Given the description of an element on the screen output the (x, y) to click on. 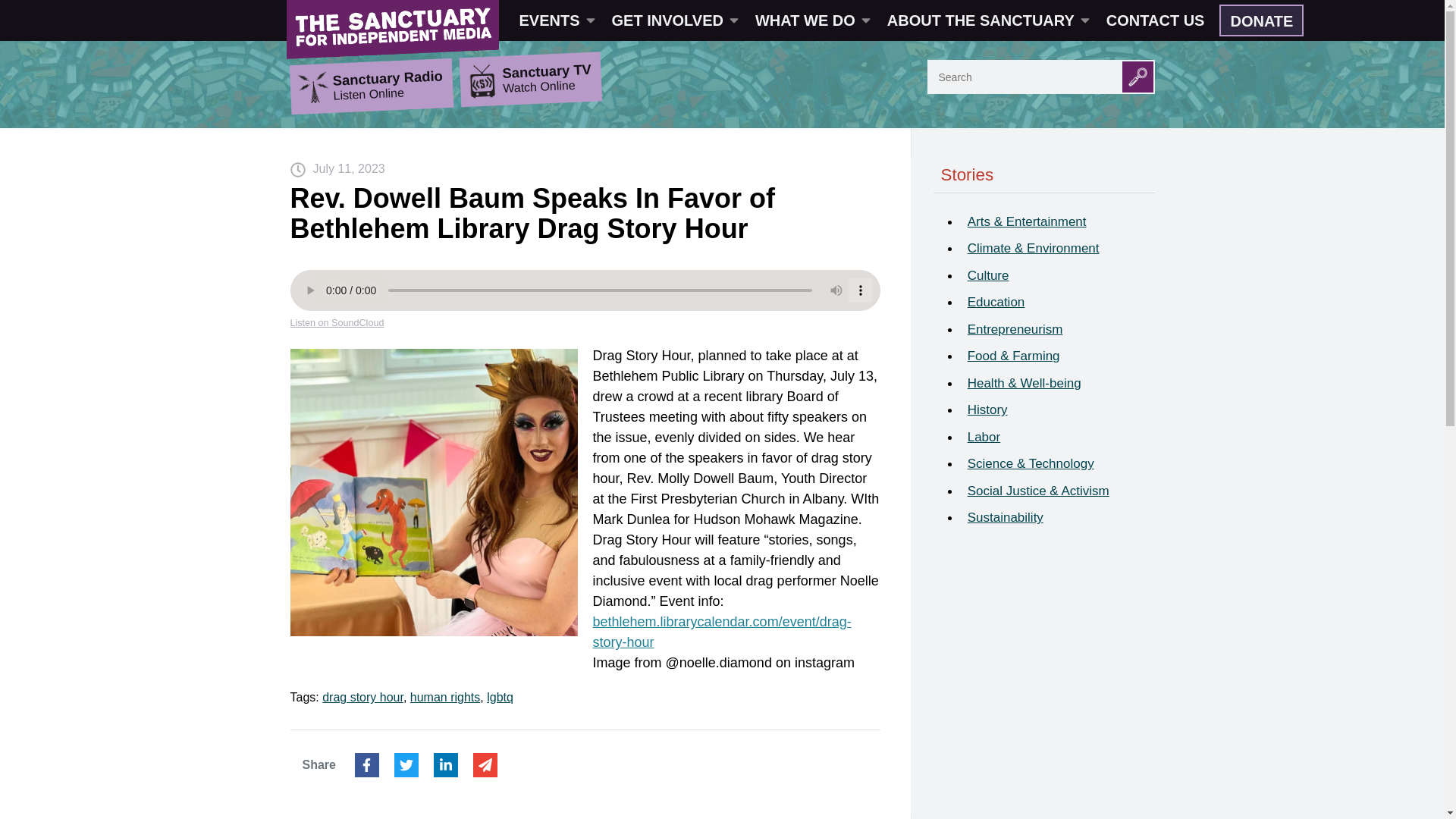
ABOUT THE SANCTUARY (987, 20)
GET INVOLVED (673, 20)
WHAT WE DO (811, 20)
EVENTS (555, 20)
